Given the description of an element on the screen output the (x, y) to click on. 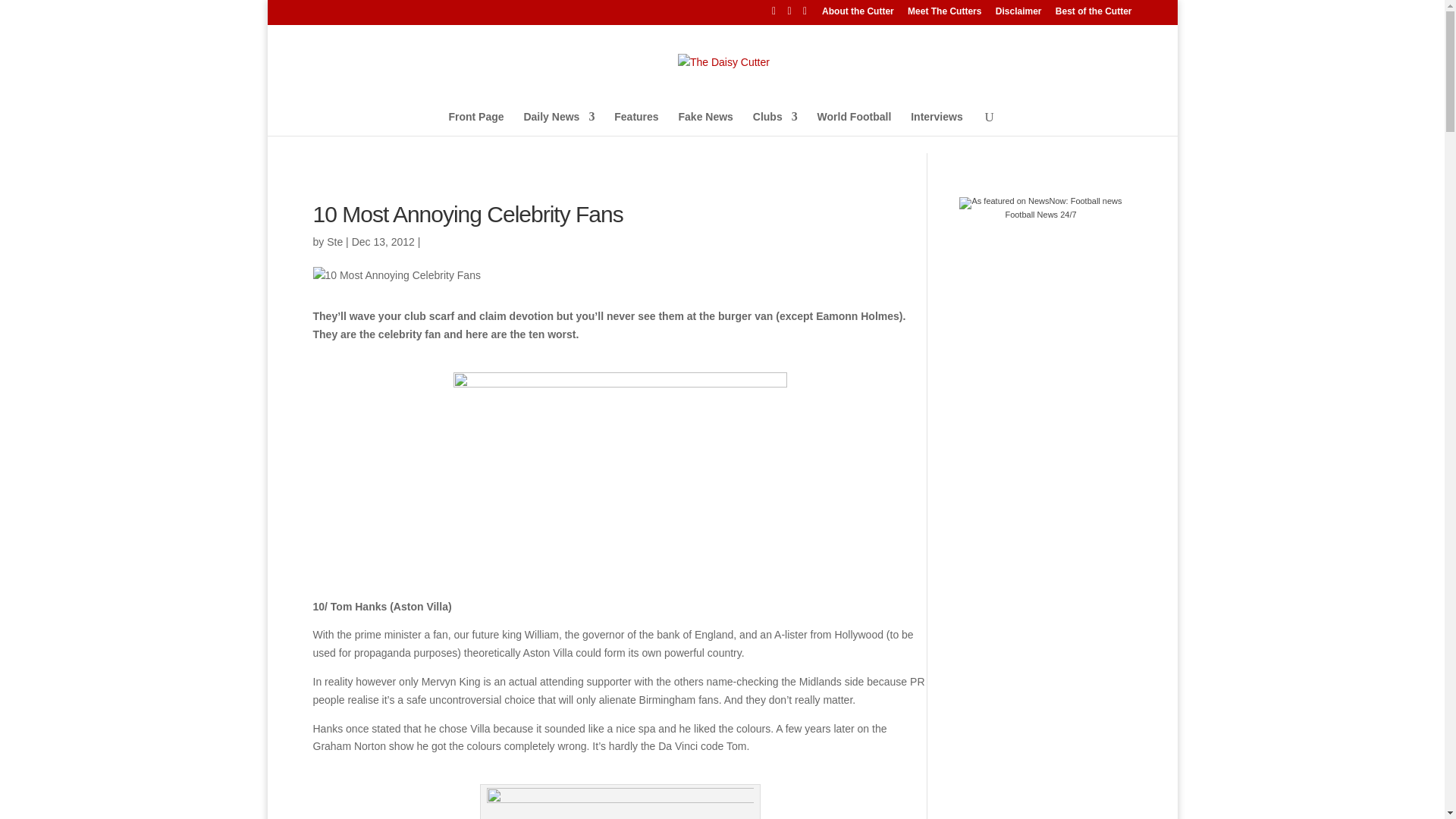
Best of the Cutter (1093, 14)
World Football (853, 126)
Interviews (936, 126)
Disclaimer (1018, 14)
Daily News (558, 126)
Posts by Ste (334, 241)
Front Page (475, 126)
87152hp2-e1348182332743 (619, 480)
Features (636, 126)
About the Cutter (857, 14)
Clubs (774, 126)
Meet The Cutters (944, 14)
Fake News (705, 126)
